Given the description of an element on the screen output the (x, y) to click on. 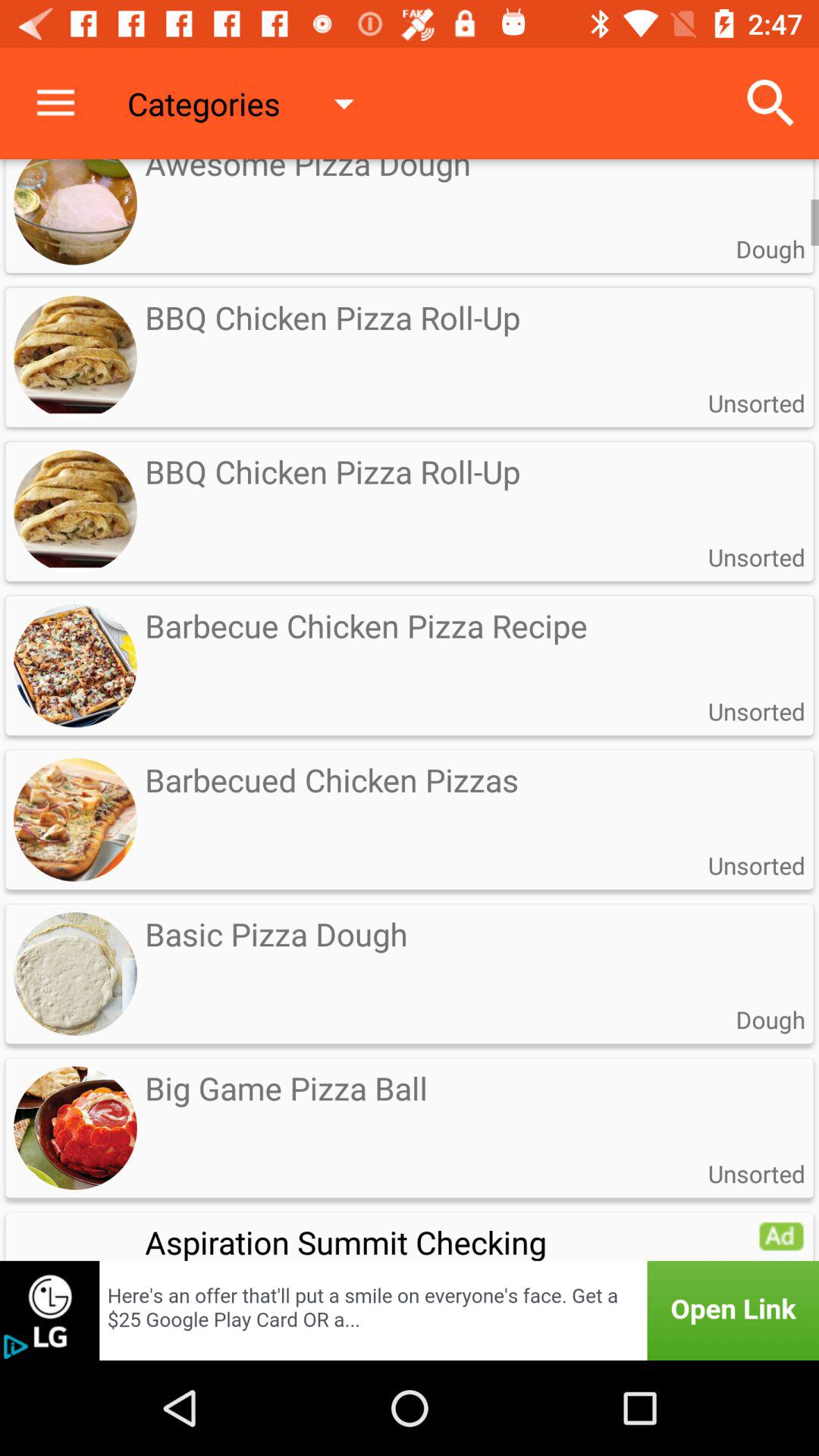
advertisement (781, 1235)
